Given the description of an element on the screen output the (x, y) to click on. 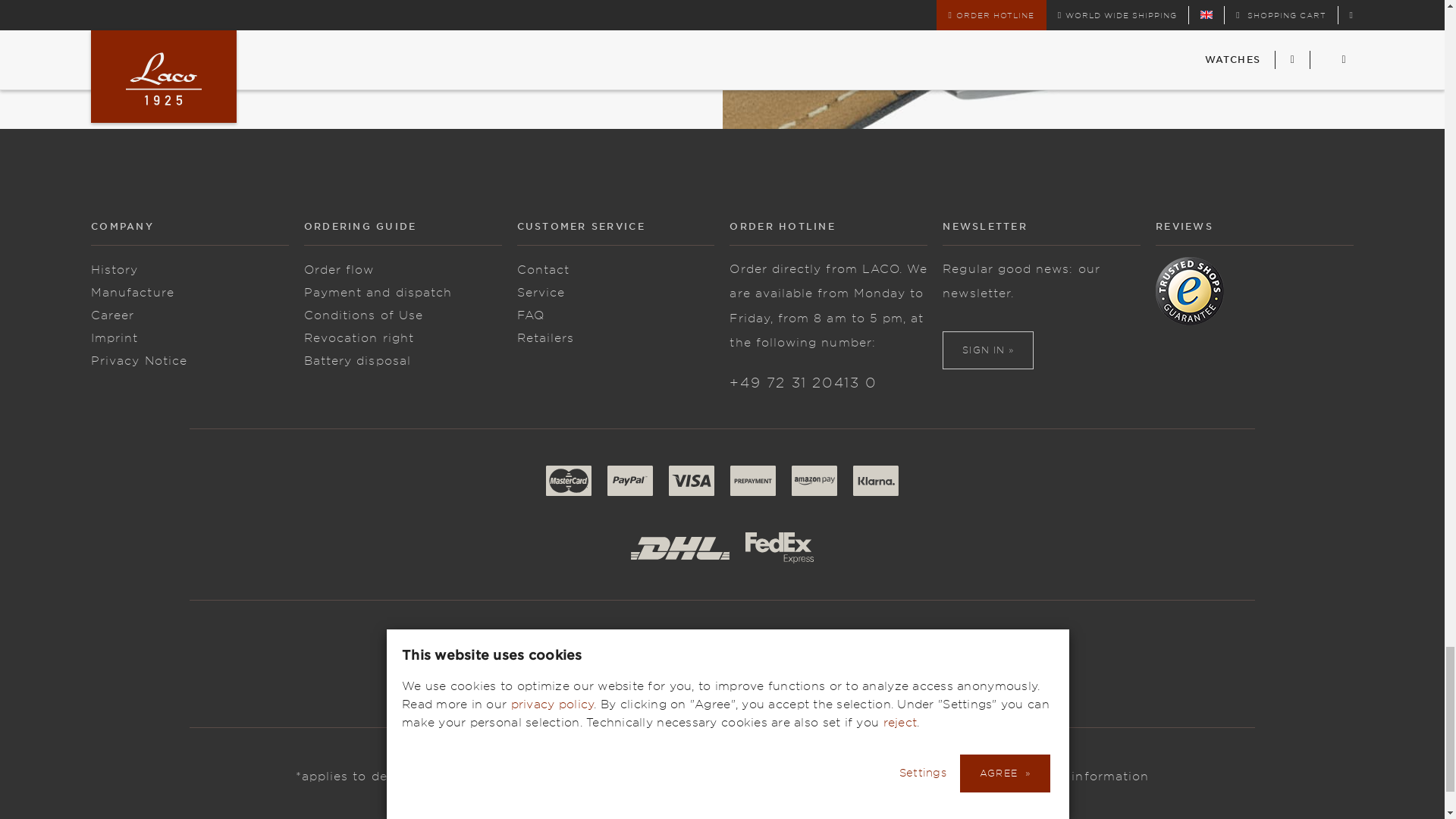
instagram (637, 663)
youtube (678, 663)
pinterest (843, 663)
Sign in (987, 350)
twitter (596, 663)
blogger (719, 663)
flickr (802, 663)
facebook (556, 663)
Trusted Shops Seal of Approval - click to verify. (1190, 291)
linkedin (883, 663)
tumblr (761, 663)
